Given the description of an element on the screen output the (x, y) to click on. 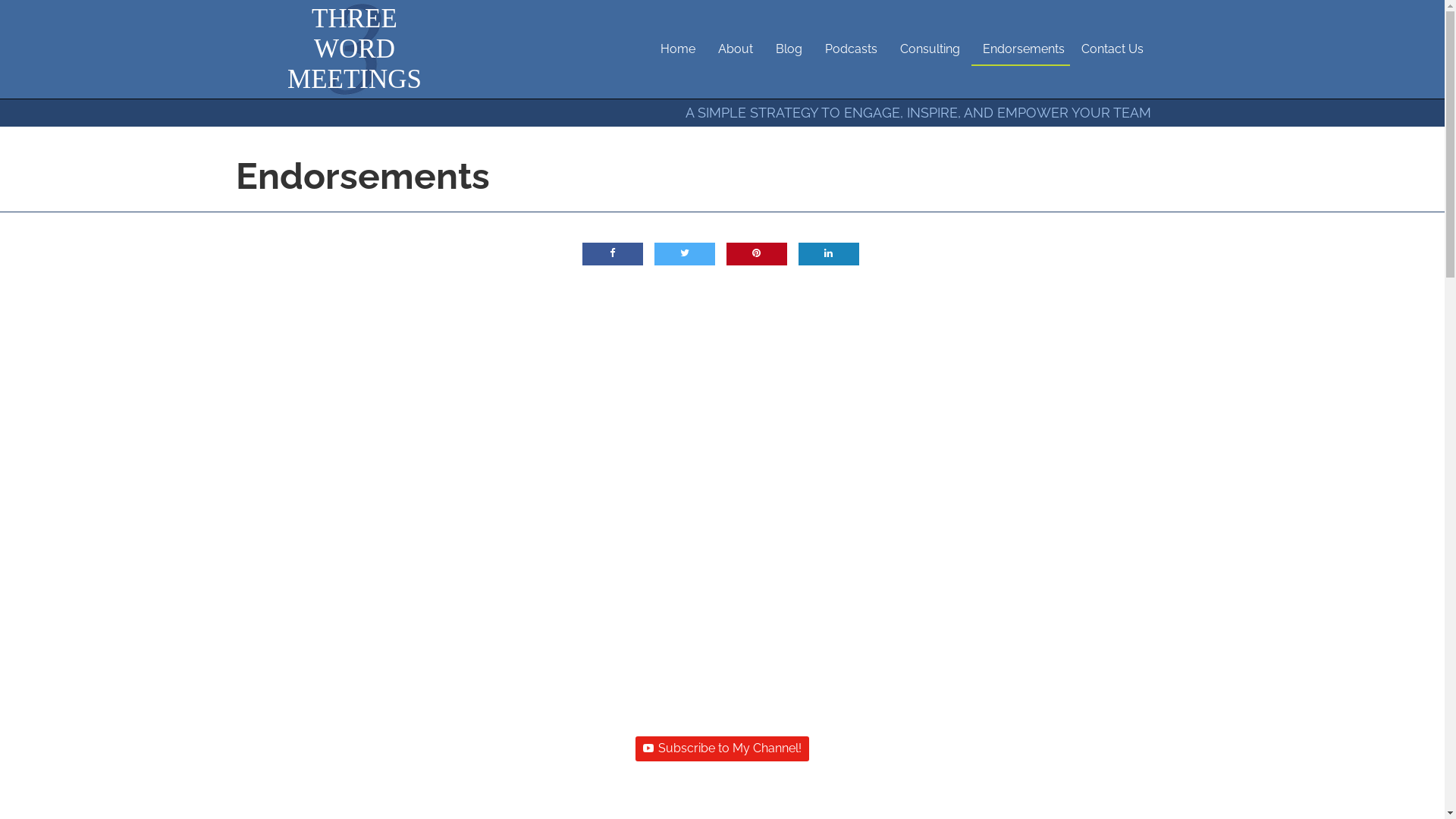
Consulting Element type: text (929, 49)
Podcasts Element type: text (850, 49)
About Element type: text (735, 49)
Endorsements Element type: text (1019, 49)
YouTube player Element type: hover (721, 498)
Subscribe to My Channel! Element type: text (722, 748)
Home Element type: text (677, 49)
Contact Us Element type: text (1111, 49)
THREE WORD MEETINGS Element type: text (354, 48)
Blog Element type: text (788, 49)
Skip to content Element type: text (0, 0)
